Given the description of an element on the screen output the (x, y) to click on. 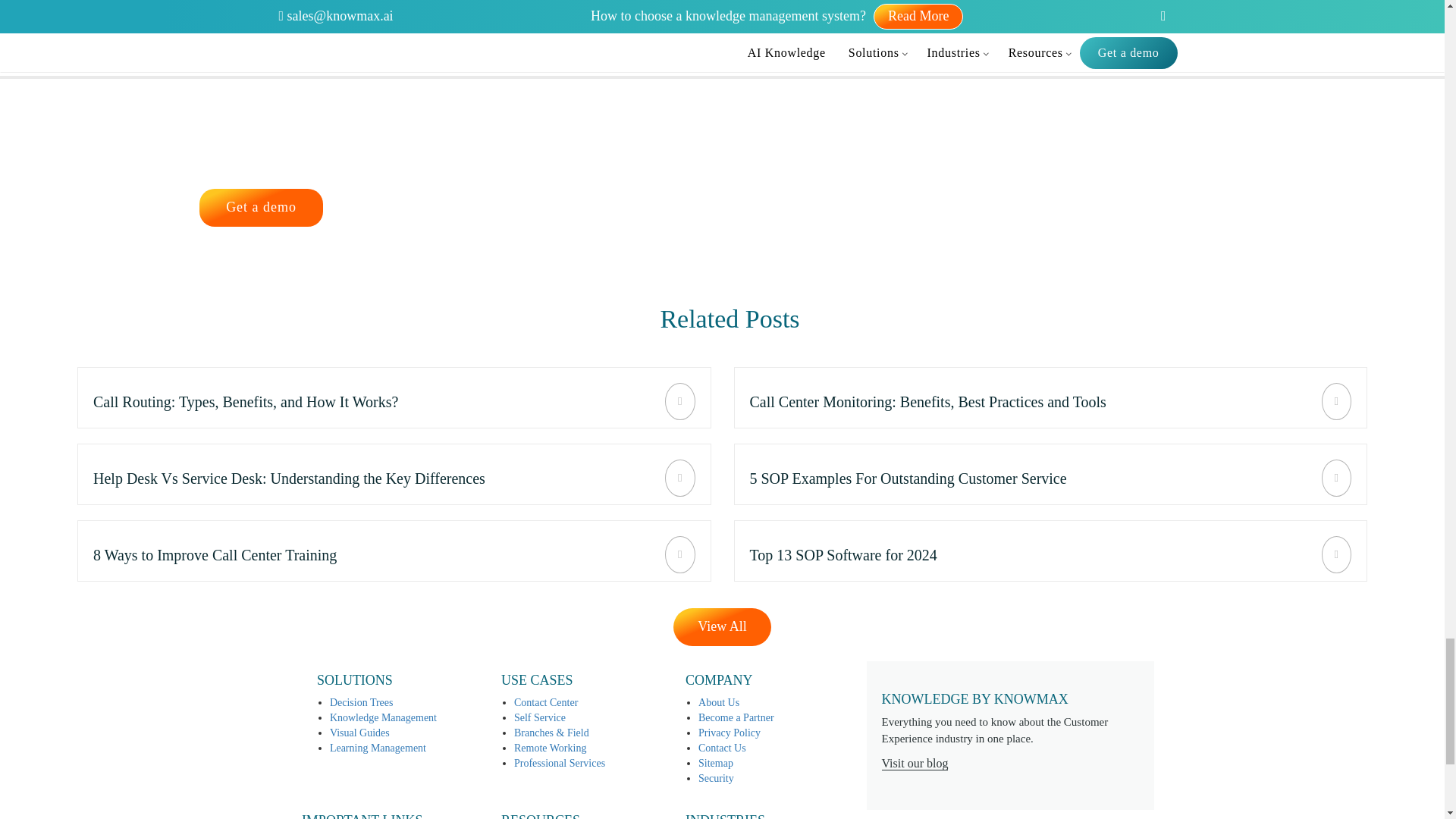
Create interactive customer service scripts with Knowmax (1050, 550)
Create interactive customer service scripts with Knowmax (394, 474)
Create interactive customer service scripts with Knowmax (394, 550)
Create interactive customer service scripts with Knowmax (1050, 397)
Create interactive customer service scripts with Knowmax (394, 397)
Create interactive customer service scripts with Knowmax (1050, 474)
